Given the description of an element on the screen output the (x, y) to click on. 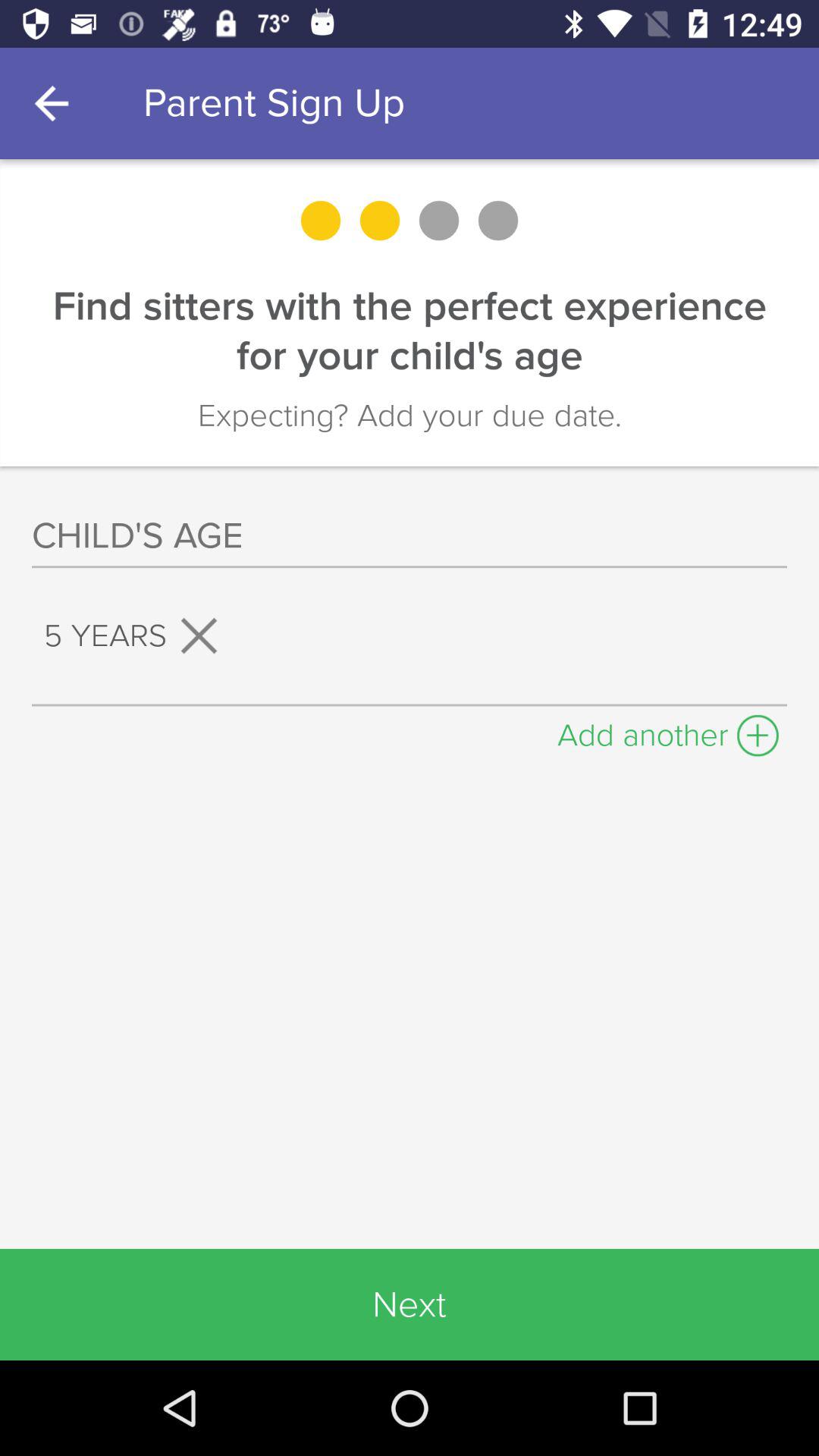
open icon on the right (668, 731)
